Given the description of an element on the screen output the (x, y) to click on. 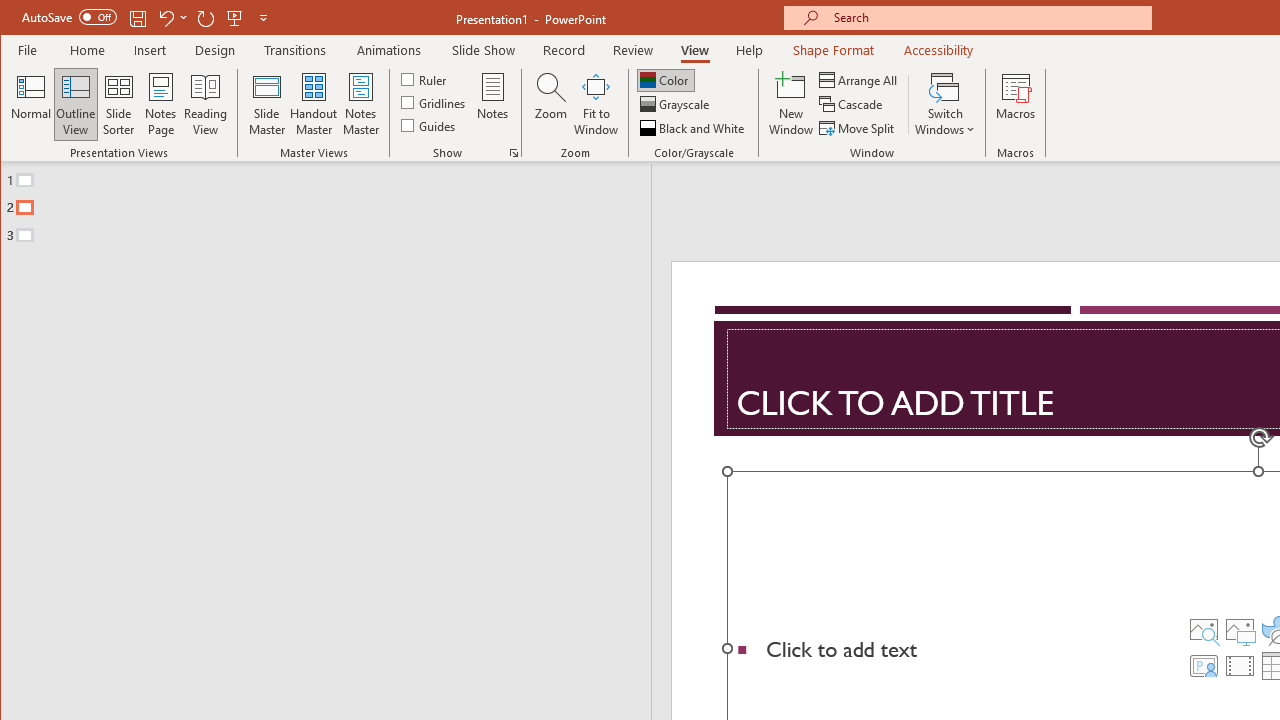
Macros (1016, 104)
Ruler (425, 78)
Outline View (75, 104)
Notes Page (160, 104)
Notes (493, 104)
Fit to Window (596, 104)
Move Split (858, 127)
Arrange All (859, 80)
Handout Master (314, 104)
